Given the description of an element on the screen output the (x, y) to click on. 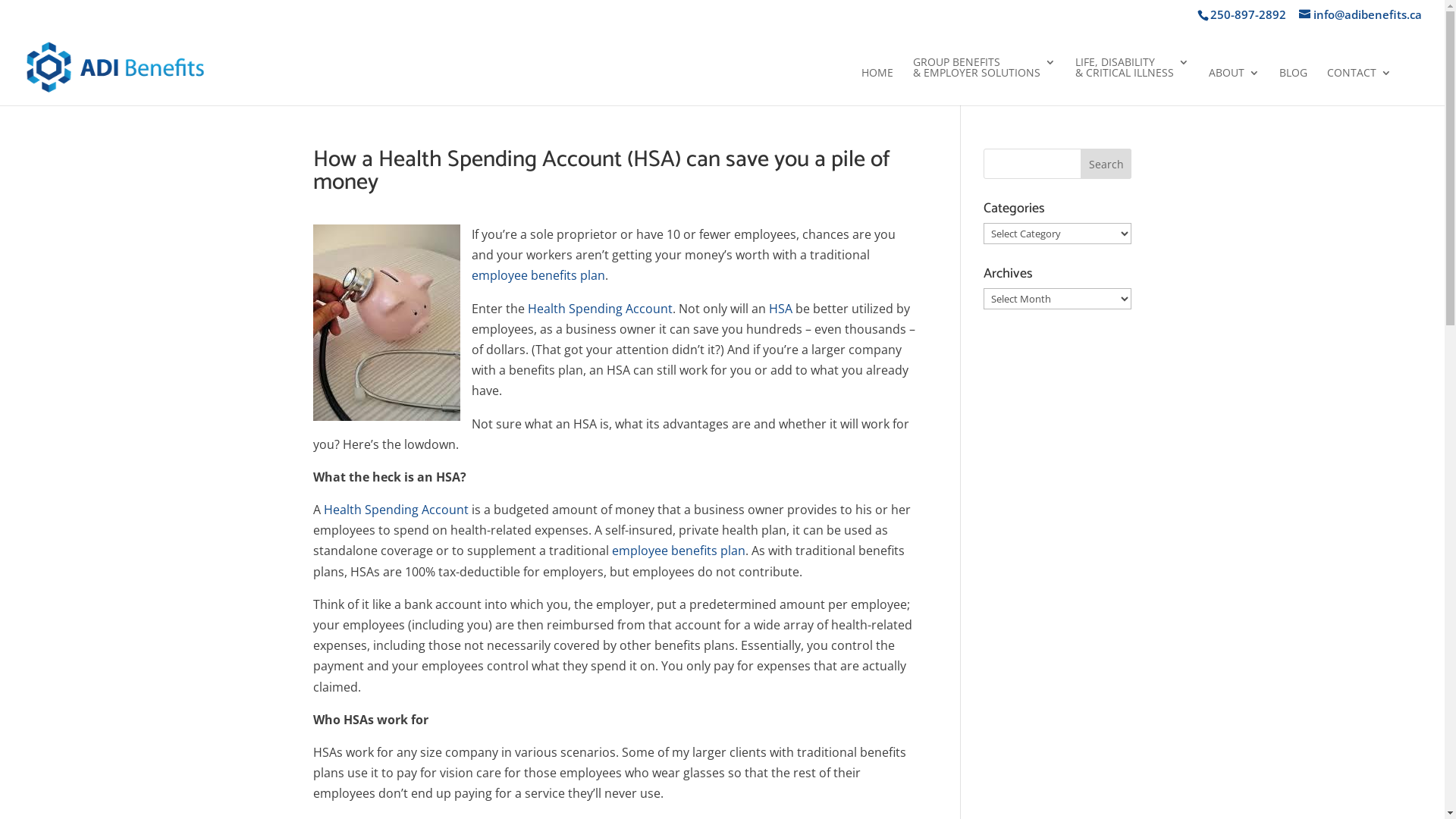
GROUP BENEFITS
& EMPLOYER SOLUTIONS Element type: text (984, 80)
LIFE, DISABILITY
& CRITICAL ILLNESS Element type: text (1132, 80)
BLOG Element type: text (1293, 85)
HSA Element type: text (780, 308)
employee benefits plan Element type: text (538, 274)
Health Spending Account Element type: text (599, 308)
Search Element type: text (1106, 163)
CONTACT Element type: text (1359, 85)
ABOUT Element type: text (1233, 85)
HOME Element type: text (877, 85)
Health Spending Account Element type: text (395, 509)
info@adibenefits.ca Element type: text (1360, 13)
employee benefits plan Element type: text (677, 550)
